Given the description of an element on the screen output the (x, y) to click on. 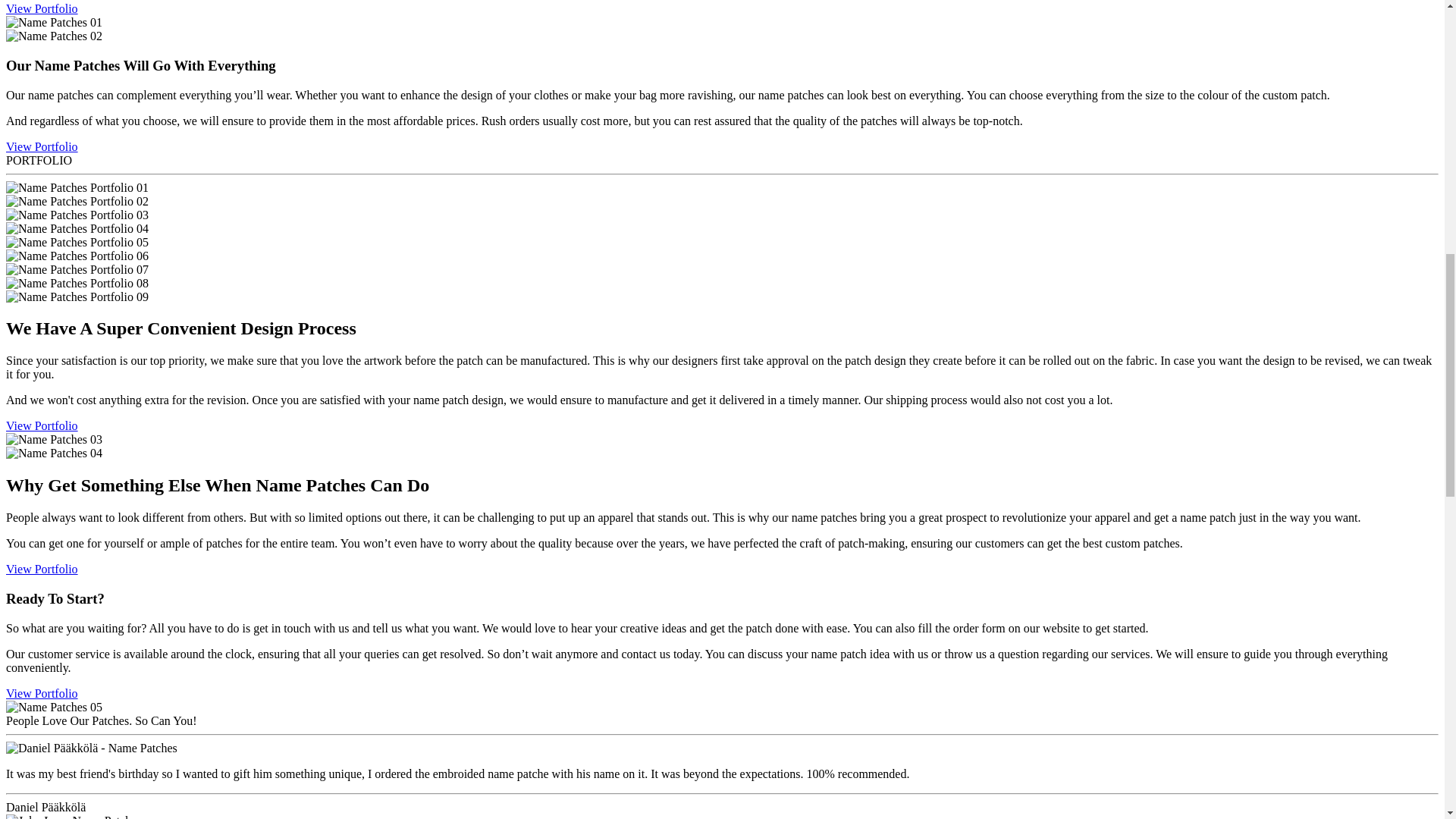
Name Patches Portfolio 09 (76, 296)
Name Patches Portfolio 06 (76, 255)
Name Patches Portfolio 01 (76, 187)
Name Patches 02 (53, 36)
Name Patches 04 (53, 453)
View Portfolio (41, 145)
Name Patches Portfolio 02 (76, 201)
Name Patches Portfolio 03 (76, 214)
View Portfolio (41, 425)
Name Patches 03 (53, 439)
